Given the description of an element on the screen output the (x, y) to click on. 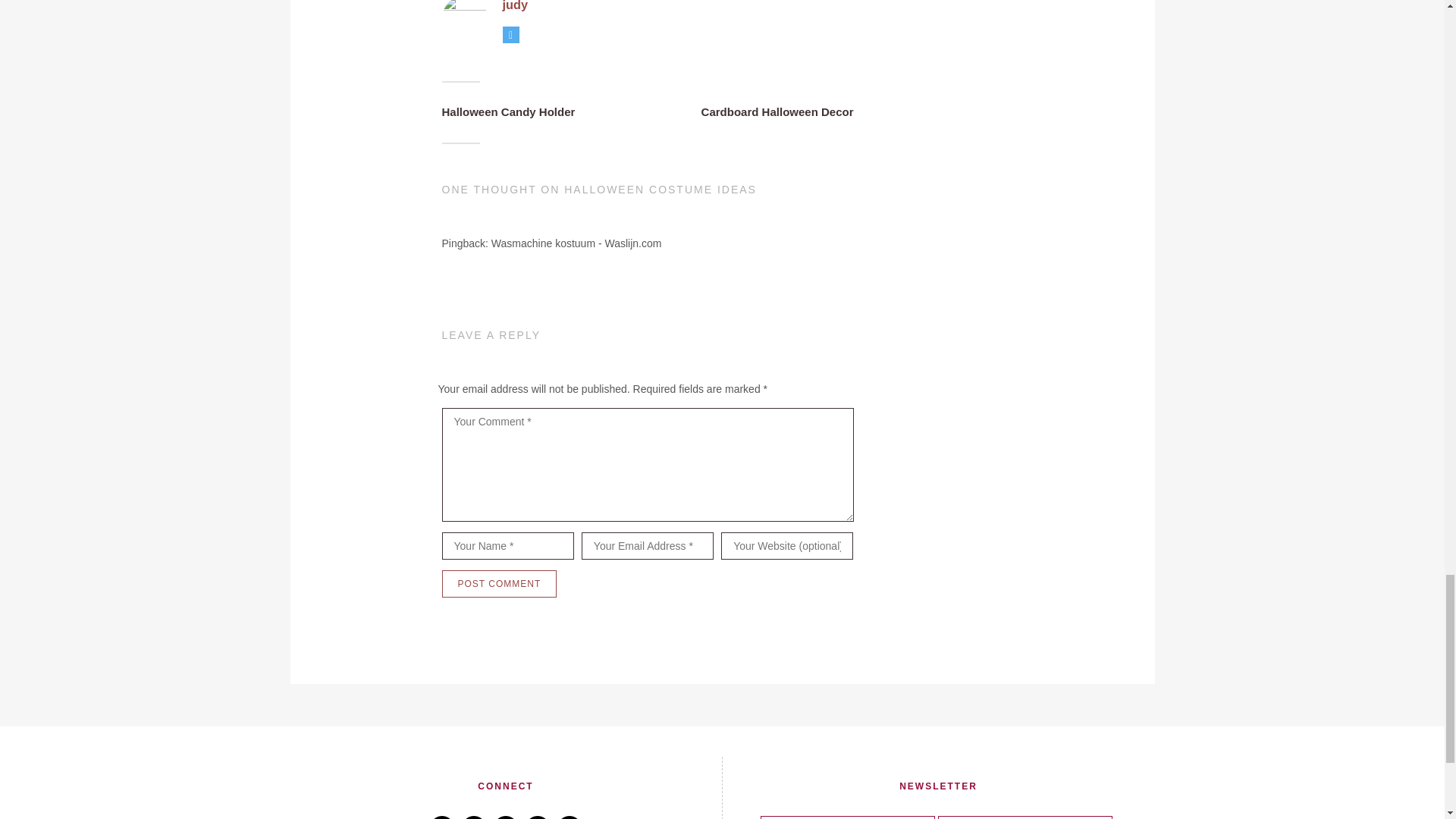
Post Comment (498, 583)
judy (463, 20)
judy (514, 5)
